Given the description of an element on the screen output the (x, y) to click on. 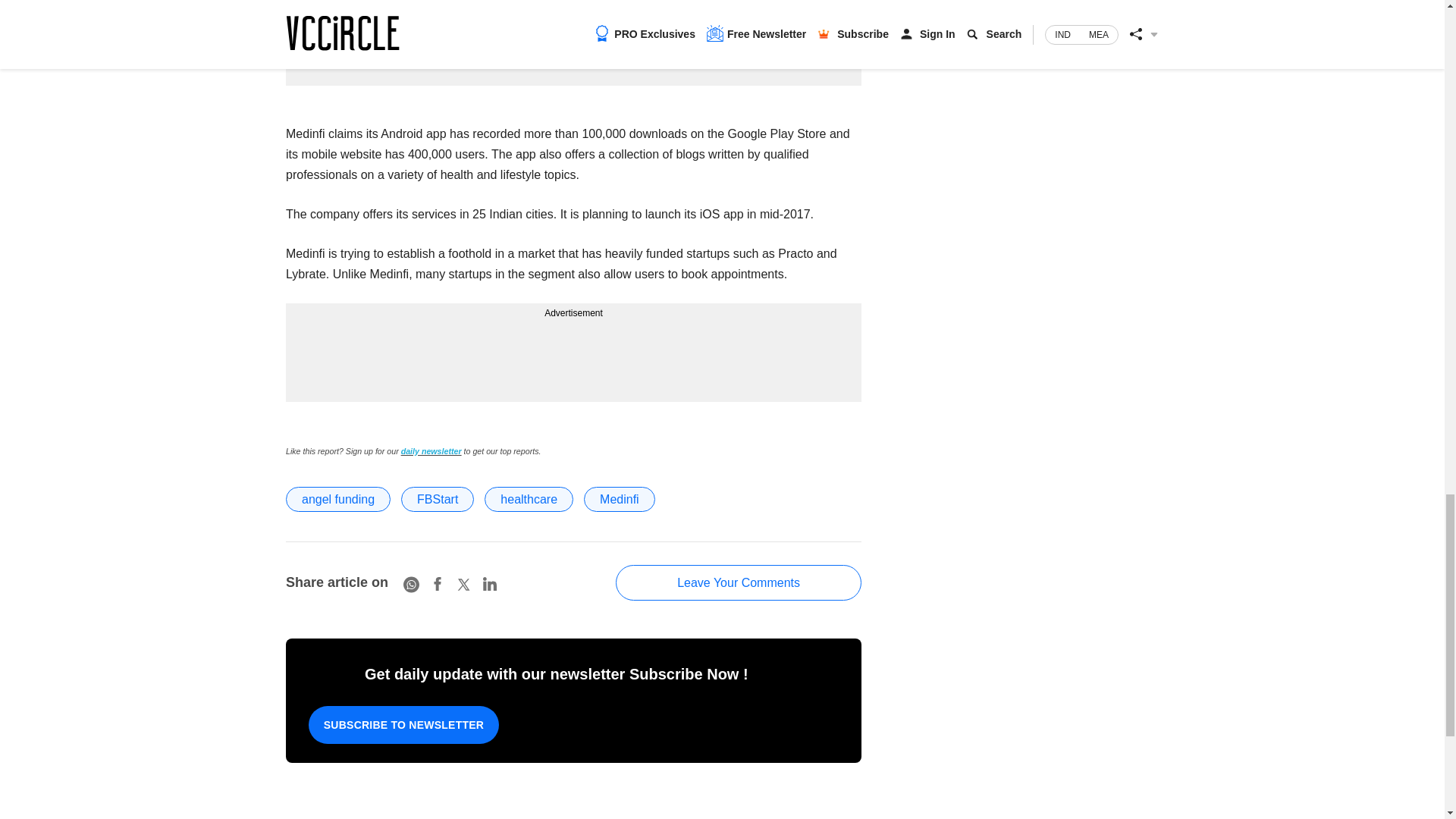
Medinfi (619, 498)
healthcare (528, 498)
FBStart (437, 498)
Leave Your Comments (738, 582)
angel funding (337, 498)
daily newsletter (431, 450)
SUBSCRIBE TO NEWSLETTER (403, 724)
